Given the description of an element on the screen output the (x, y) to click on. 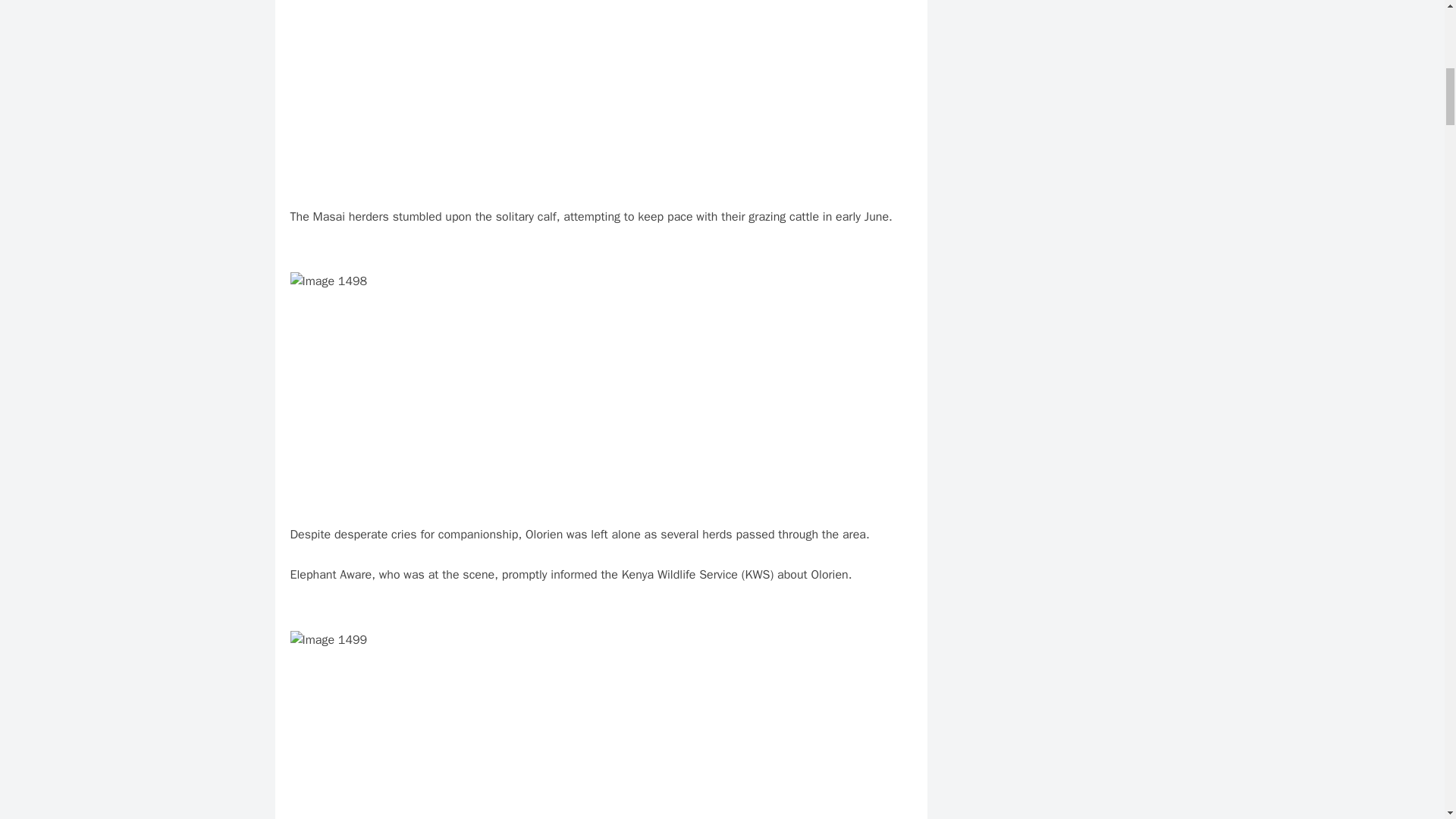
Advertisement (402, 96)
